Given the description of an element on the screen output the (x, y) to click on. 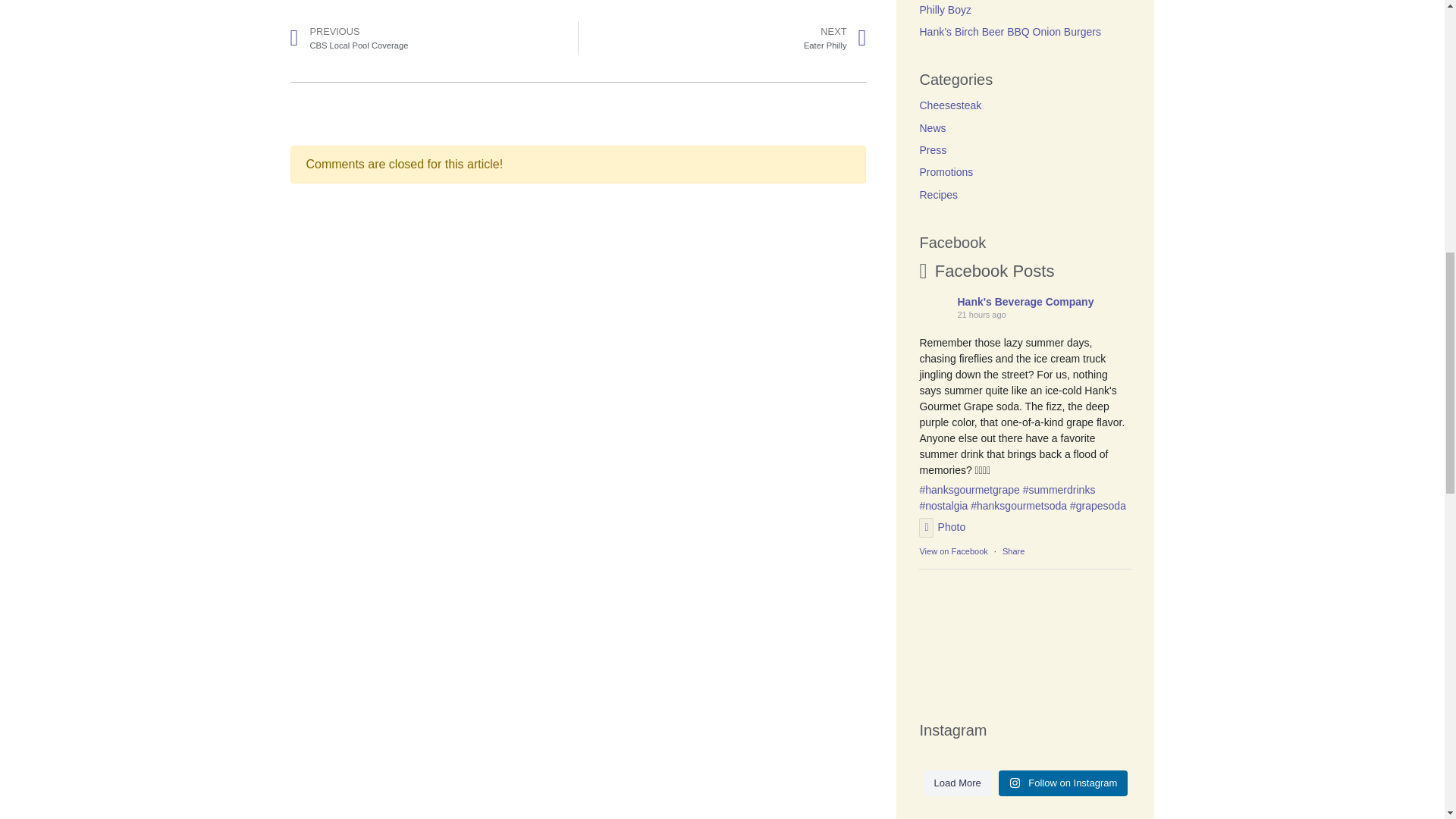
Share (1014, 551)
Likebox Iframe (1024, 641)
View on Facebook (952, 551)
